Given the description of an element on the screen output the (x, y) to click on. 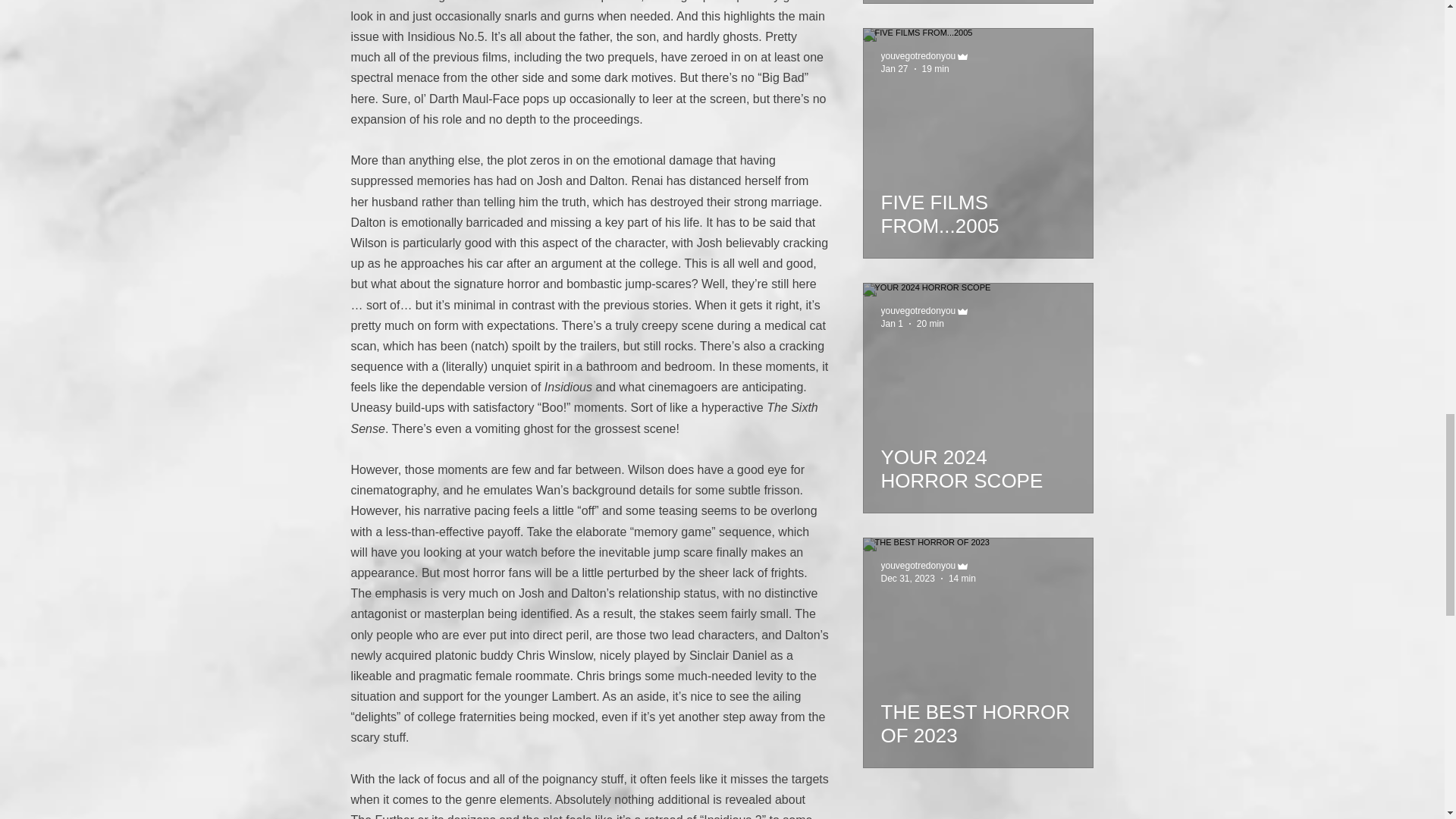
youvegotredonyou (918, 310)
FIVE FILMS FROM...2005 (977, 207)
Dec 31, 2023 (907, 578)
youvegotredonyou (918, 55)
YOUR 2024 HORROR SCOPE (977, 462)
19 min (935, 68)
14 min (962, 578)
THE BEST HORROR OF 2023 (977, 717)
20 min (930, 323)
Jan 27 (894, 68)
youvegotredonyou (918, 565)
Jan 1 (891, 323)
